Given the description of an element on the screen output the (x, y) to click on. 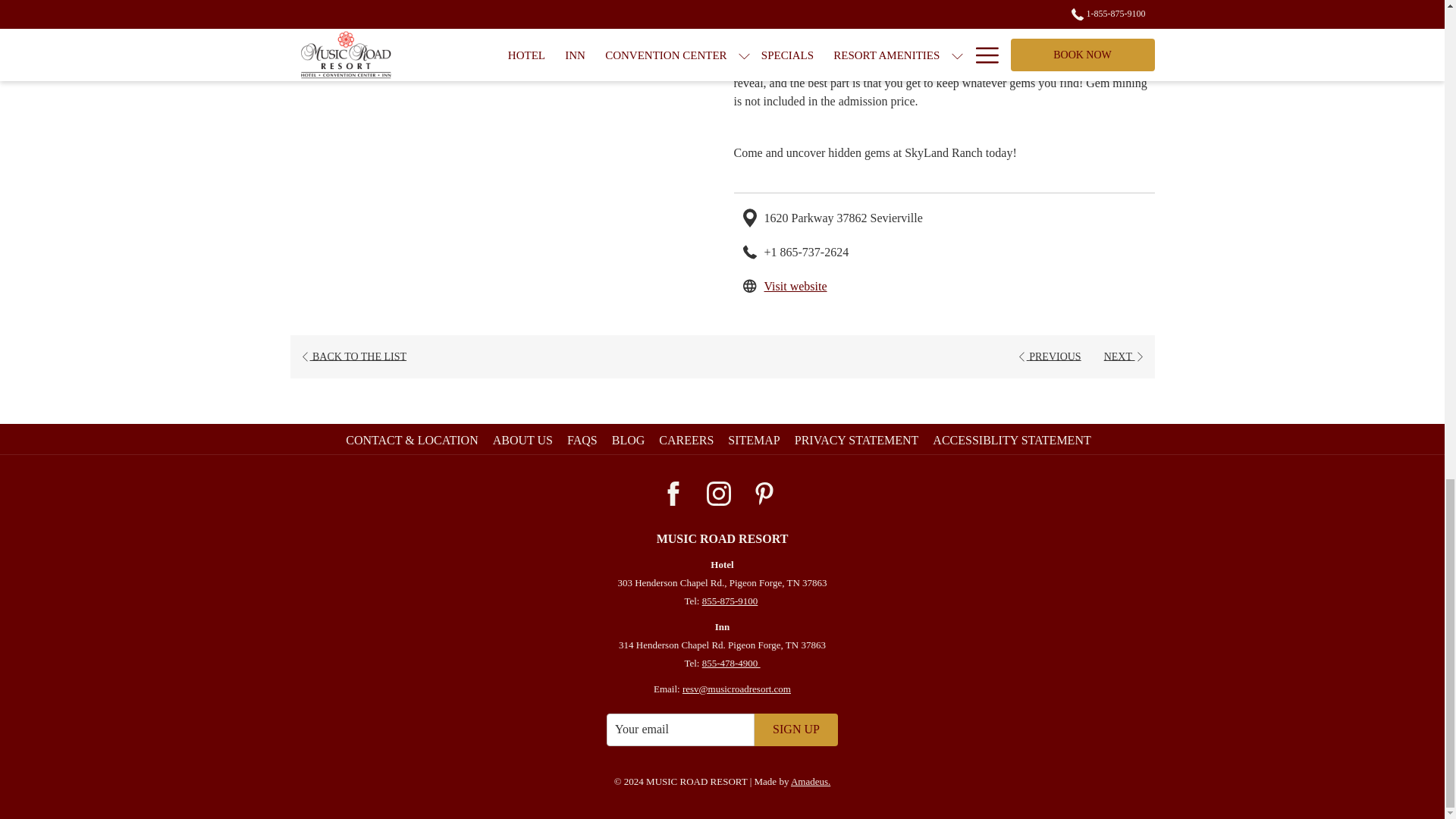
PREVIOUS (795, 285)
NEXT (1048, 356)
